Given the description of an element on the screen output the (x, y) to click on. 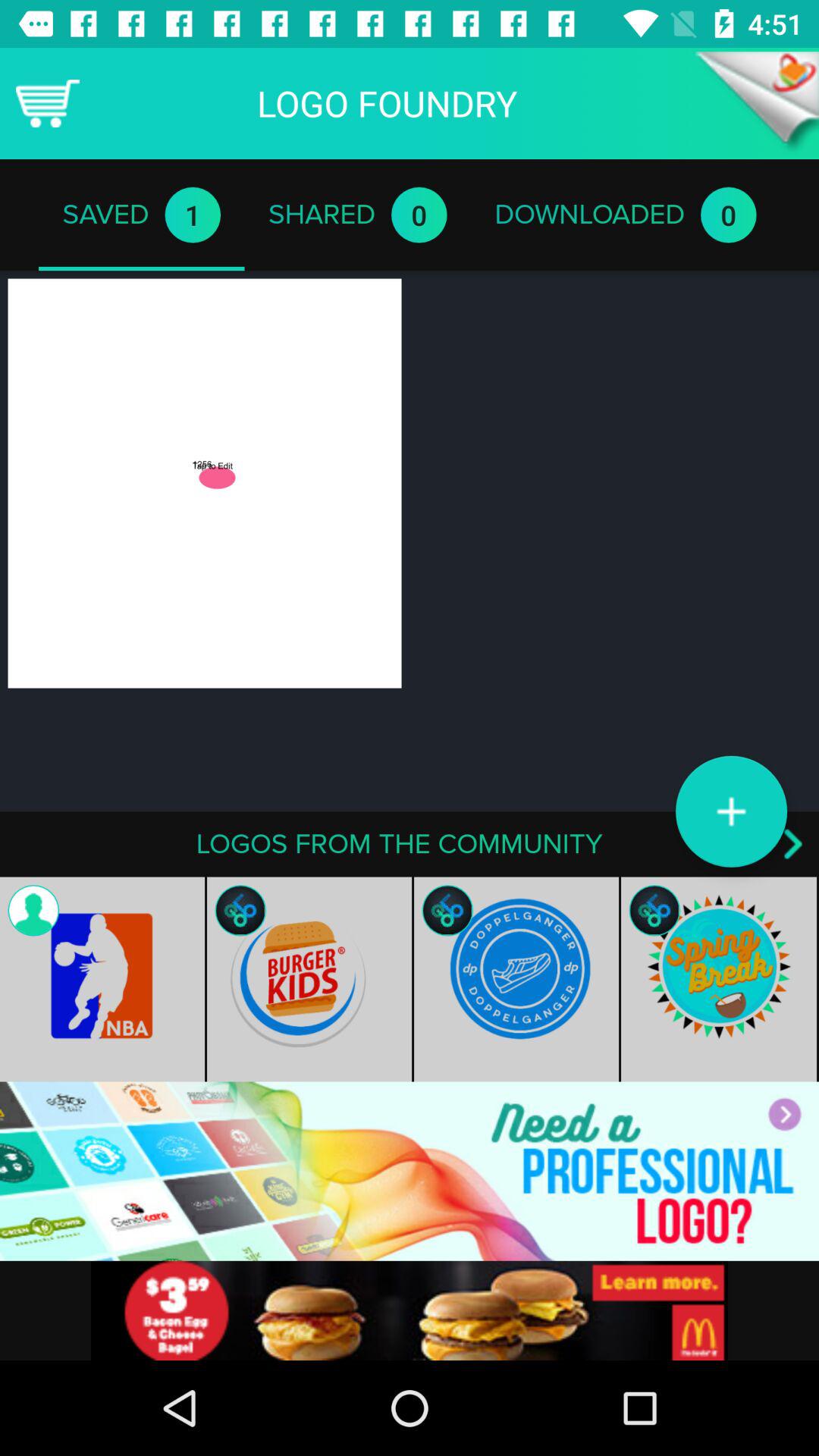
view shopping card (47, 103)
